Given the description of an element on the screen output the (x, y) to click on. 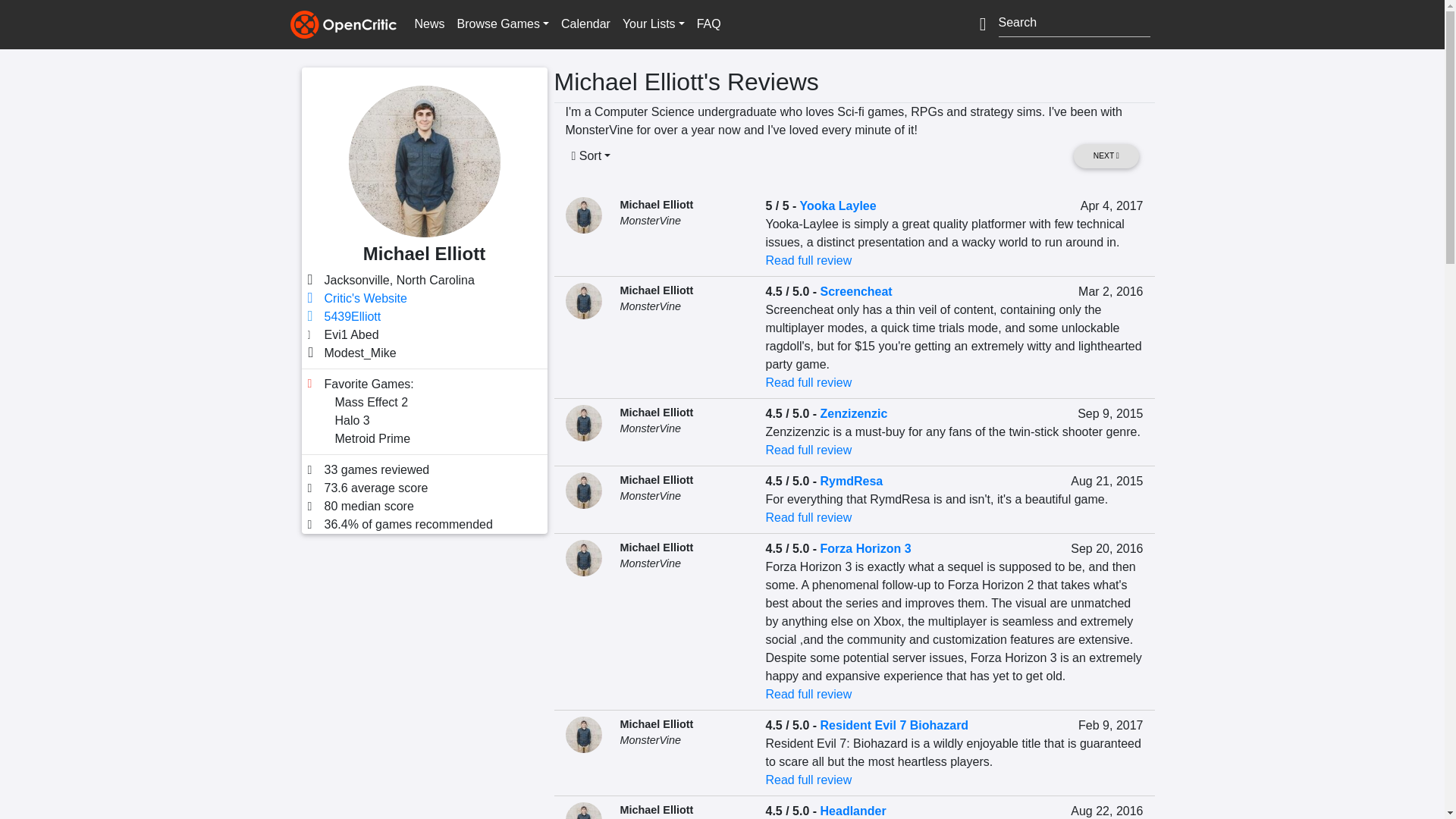
Critic's Website (365, 297)
Yooka Laylee (837, 205)
Browse Games (502, 24)
FAQ (708, 24)
News (428, 24)
MonsterVine (650, 306)
Michael Elliott (657, 412)
Screencheat (856, 291)
Michael Elliott (657, 290)
NEXT (1106, 155)
MonsterVine (650, 220)
Read full review (808, 259)
Calendar (584, 24)
Read full review (808, 382)
Michael Elliott (657, 204)
